Given the description of an element on the screen output the (x, y) to click on. 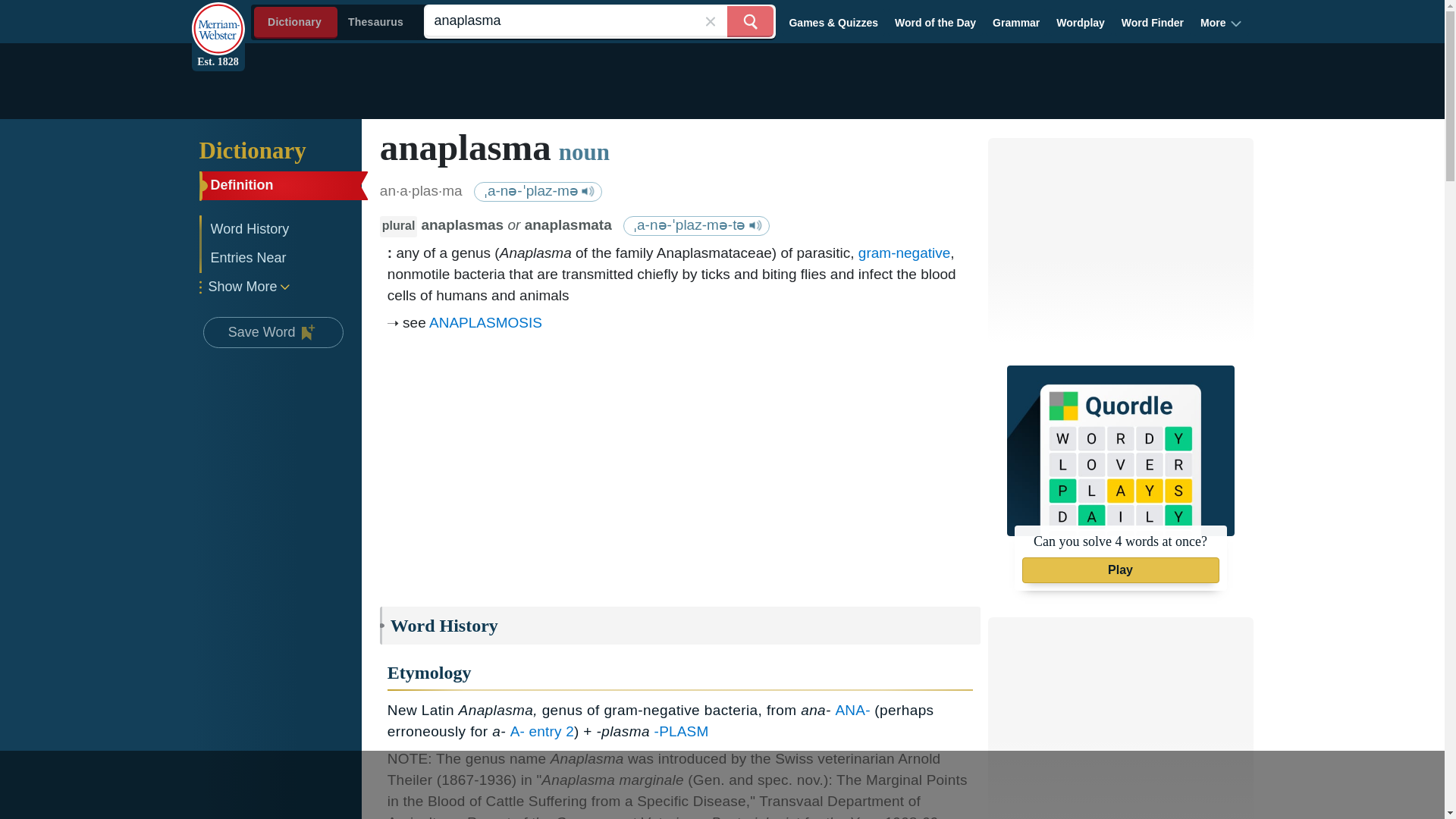
Show More (278, 287)
More (1220, 22)
anaplasma (599, 20)
Wordplay (1080, 22)
close (710, 20)
Definition (280, 185)
Search (749, 20)
Word Finder (1153, 22)
Merriam Webster - established 1828 (217, 19)
Word History (280, 229)
Word of the Day (935, 22)
